Given the description of an element on the screen output the (x, y) to click on. 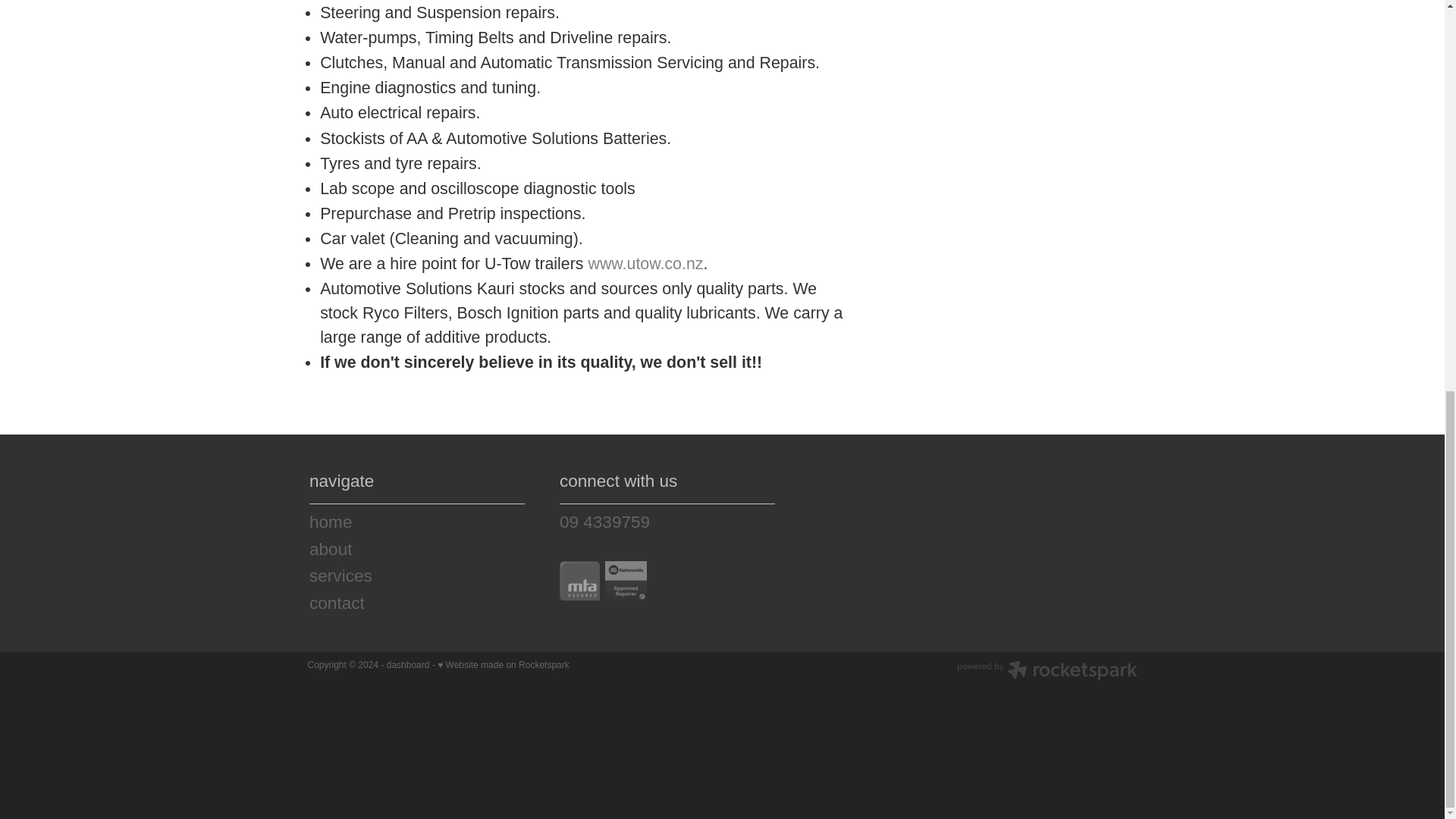
Rocketspark website builder (1046, 671)
contact (416, 603)
www.utow.co.nz (645, 263)
home (416, 522)
services (416, 576)
dashboard (408, 665)
about (416, 549)
